Given the description of an element on the screen output the (x, y) to click on. 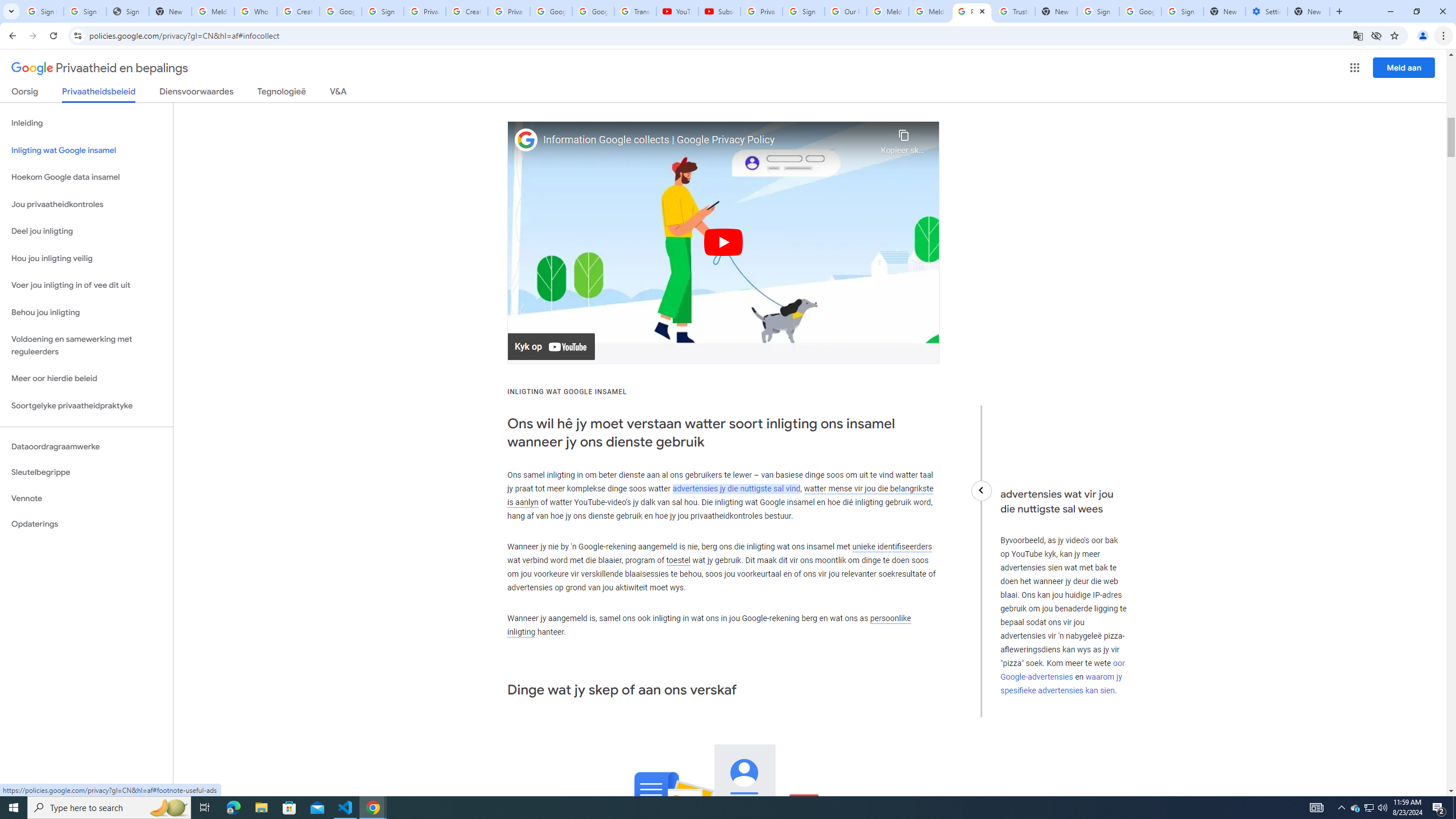
Vennote (86, 497)
Google Cybersecurity Innovations - Google Safety Center (1139, 11)
Oorsig (25, 93)
oor Google-advertensies (1062, 669)
Google-programme (1355, 67)
Diensvoorwaardes (196, 93)
New Tab (1224, 11)
Sign in - Google Accounts (1097, 11)
Fotobeeld van Google (526, 139)
Trusted Information and Content - Google Safety Center (1013, 11)
Sign in - Google Accounts (382, 11)
